Given the description of an element on the screen output the (x, y) to click on. 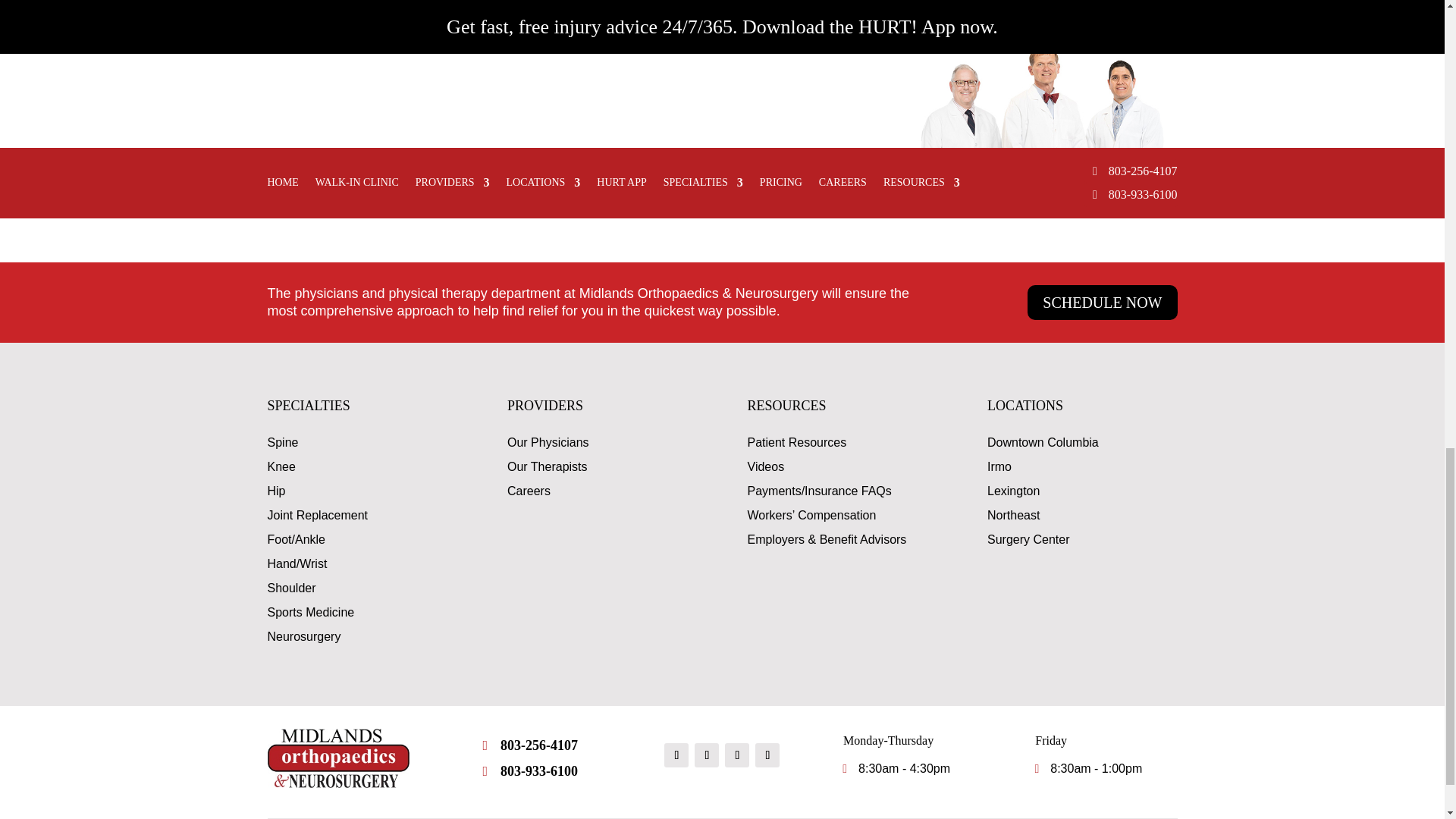
Hip Team Img (1041, 105)
Follow on Youtube (706, 754)
logo (337, 757)
Follow on Instagram (737, 754)
Follow on LinkedIn (766, 754)
Follow on Facebook (675, 754)
